Given the description of an element on the screen output the (x, y) to click on. 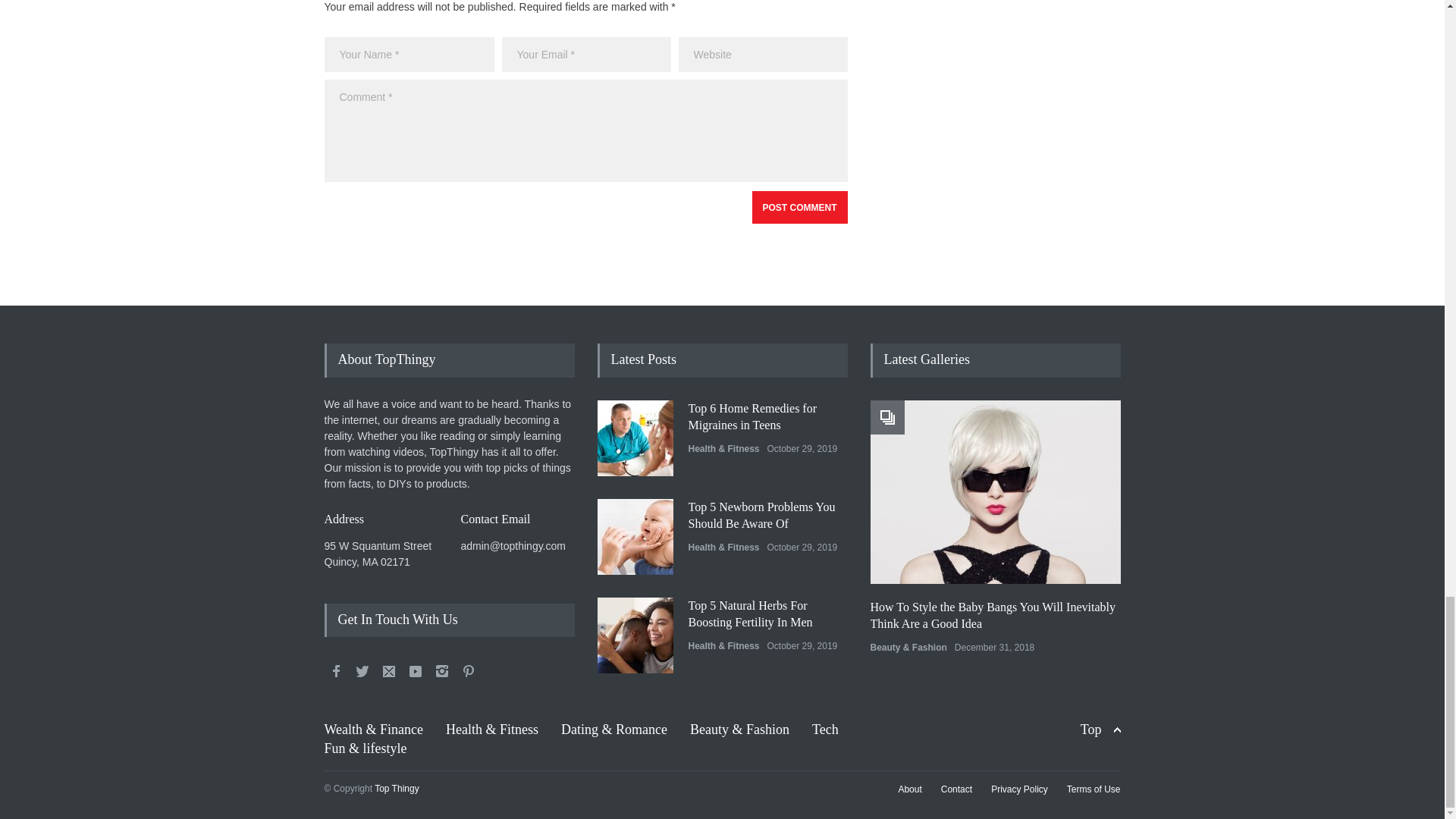
Top (1100, 729)
POST COMMENT (799, 206)
Website (762, 54)
